Given the description of an element on the screen output the (x, y) to click on. 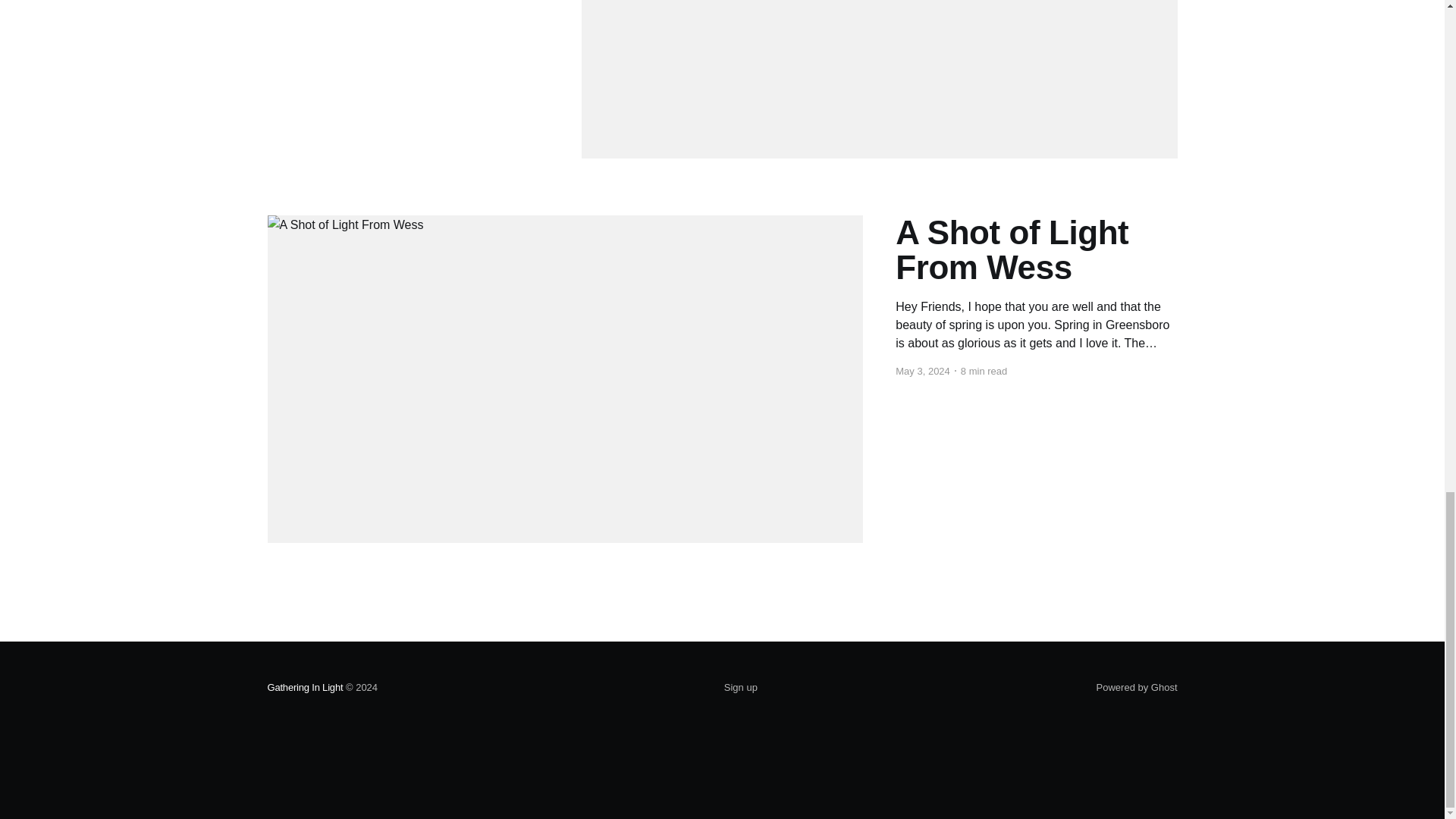
Gathering In Light (304, 686)
Sign up (740, 687)
Powered by Ghost (1136, 686)
